Given the description of an element on the screen output the (x, y) to click on. 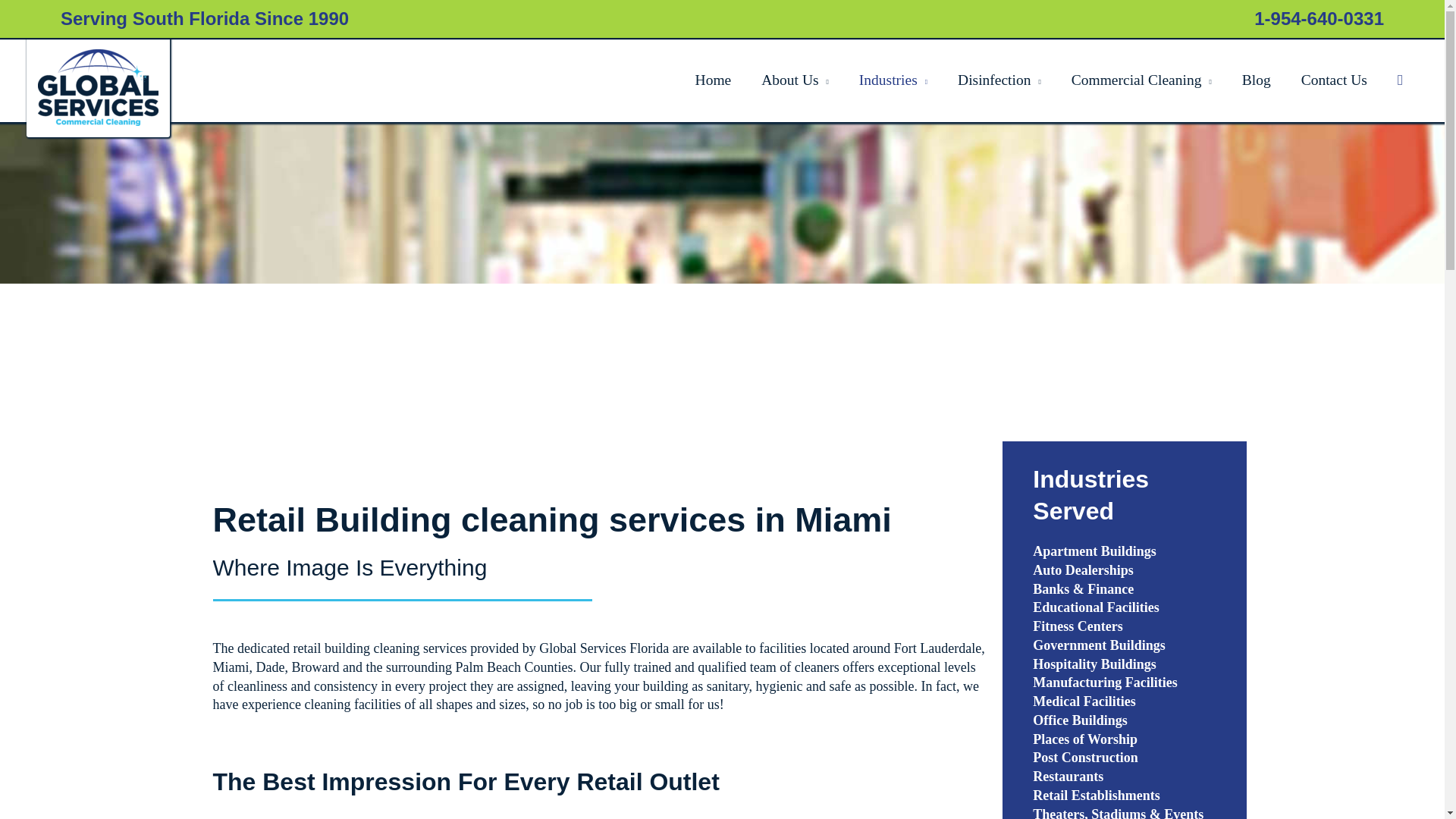
1-954-640-0331 (1318, 18)
About Us (794, 79)
Industries (893, 79)
